Given the description of an element on the screen output the (x, y) to click on. 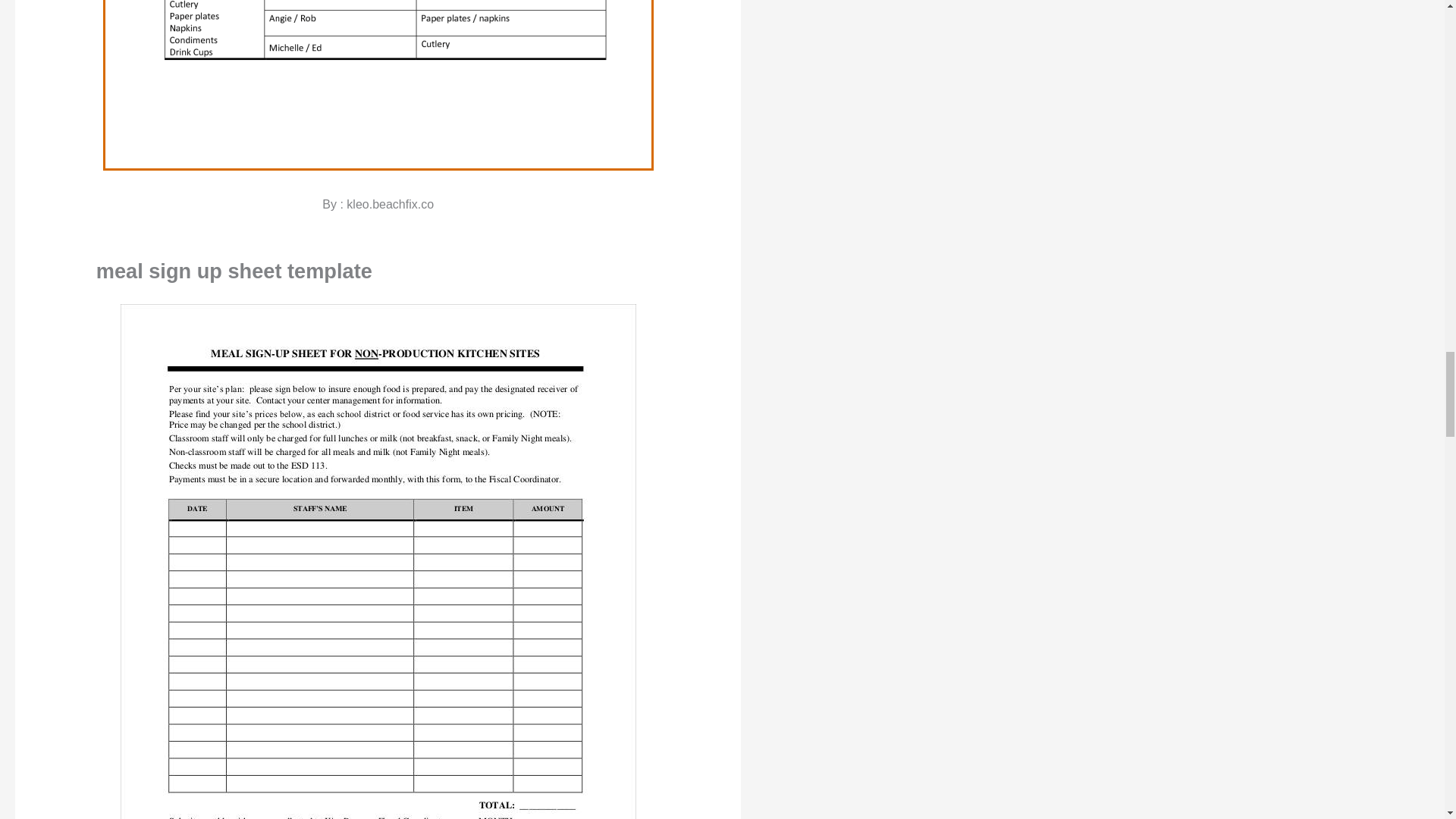
sign up sheet for food   Kleo.beachfix.co (378, 85)
